Given the description of an element on the screen output the (x, y) to click on. 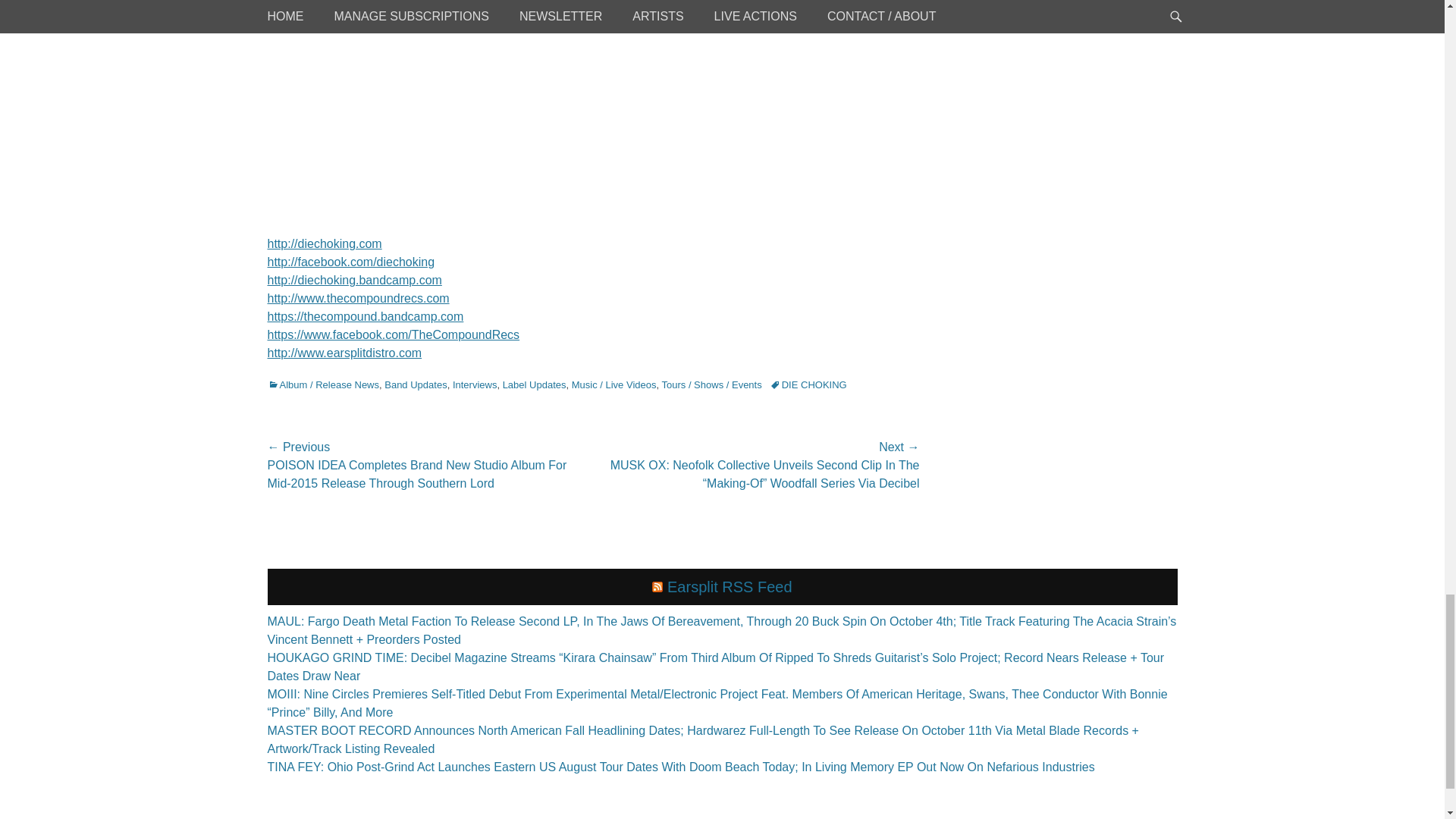
DIE CHOKING (808, 384)
Band Updates (415, 384)
Label Updates (534, 384)
Interviews (474, 384)
